Given the description of an element on the screen output the (x, y) to click on. 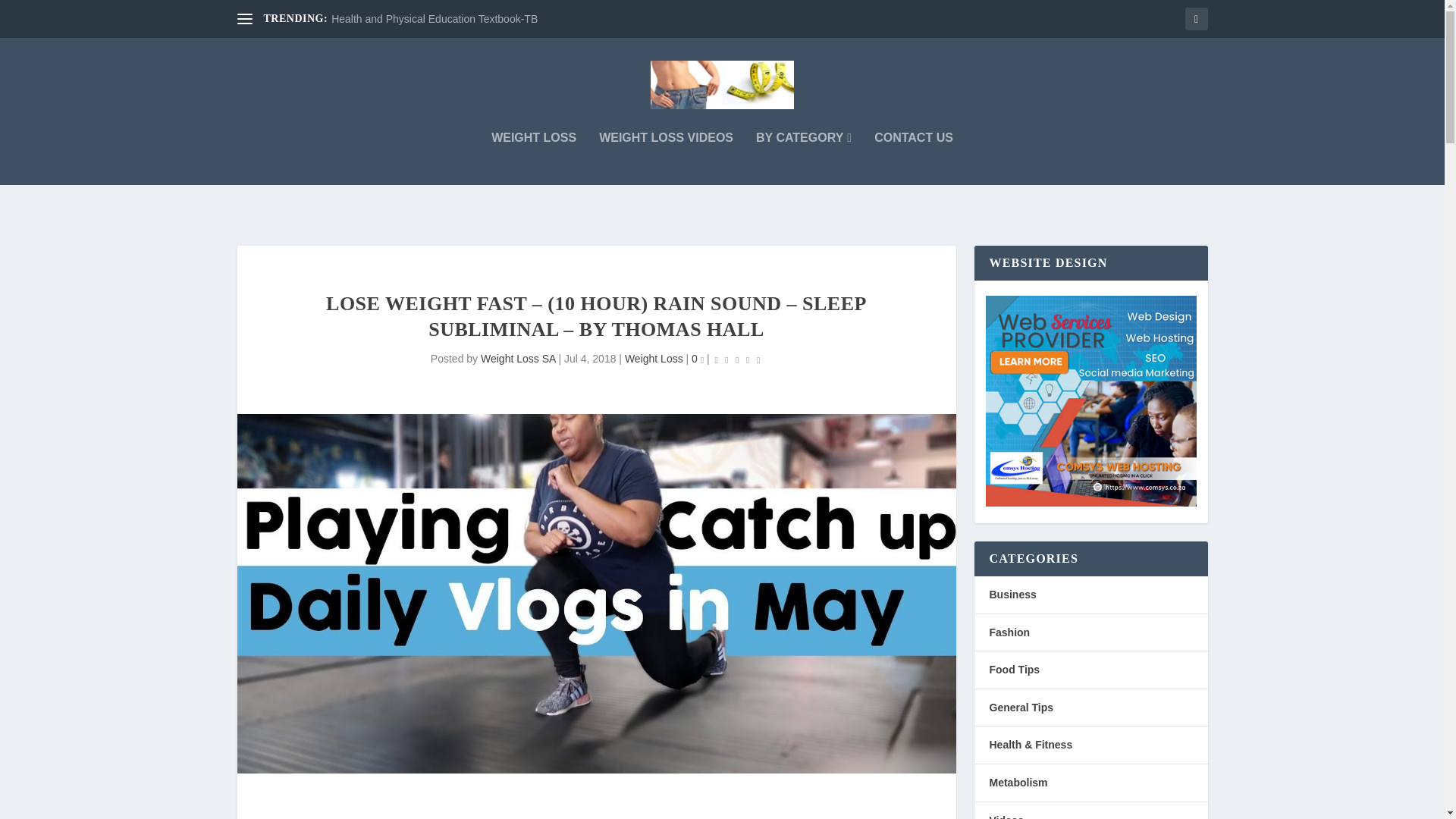
WEIGHT LOSS VIDEOS (665, 158)
Posts by Weight Loss SA (518, 358)
CONTACT US (914, 158)
Health and Physical Education Textbook-TB (434, 19)
BY CATEGORY (803, 158)
WEIGHT LOSS (534, 158)
Rating: 0.00 (737, 359)
